Given the description of an element on the screen output the (x, y) to click on. 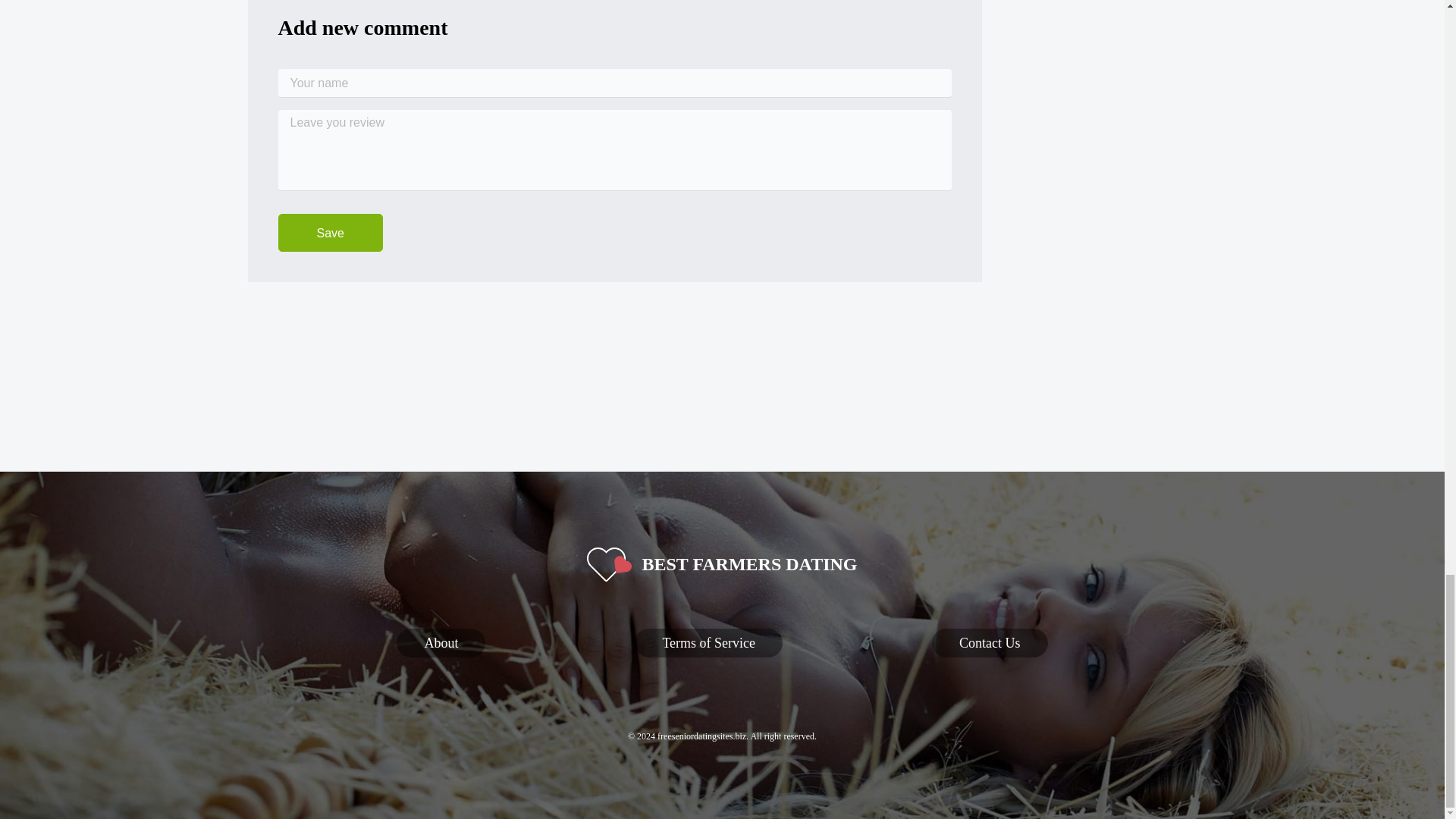
Save (329, 232)
Save (329, 232)
About (440, 642)
Terms of Service (708, 642)
Contact Us (989, 642)
